Given the description of an element on the screen output the (x, y) to click on. 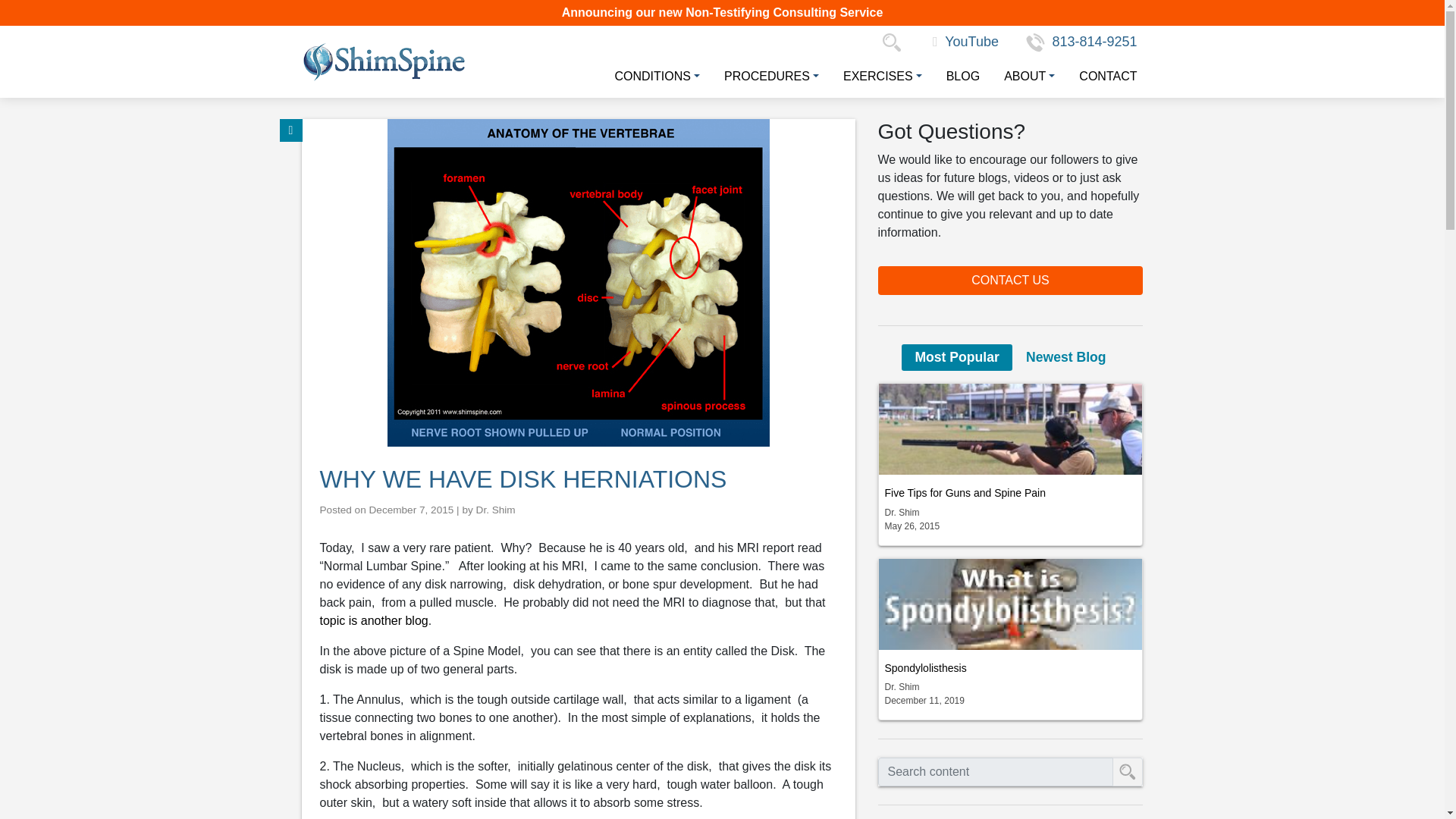
ABOUT (1023, 76)
Conditions (650, 76)
BLOG (956, 76)
ShimSpine (383, 61)
  YouTube (965, 41)
ShimSpine YouTube Channel (965, 41)
PROCEDURES (765, 76)
Announcing our new Non-Testifying Consulting Service (722, 11)
Call us at: 813-814-9251 (1081, 41)
Search (895, 41)
Search Magnifying Glass (891, 42)
Phone Icon (1035, 42)
Search Magnifying Glass (895, 41)
CONDITIONS (650, 76)
EXERCISES (876, 76)
